Given the description of an element on the screen output the (x, y) to click on. 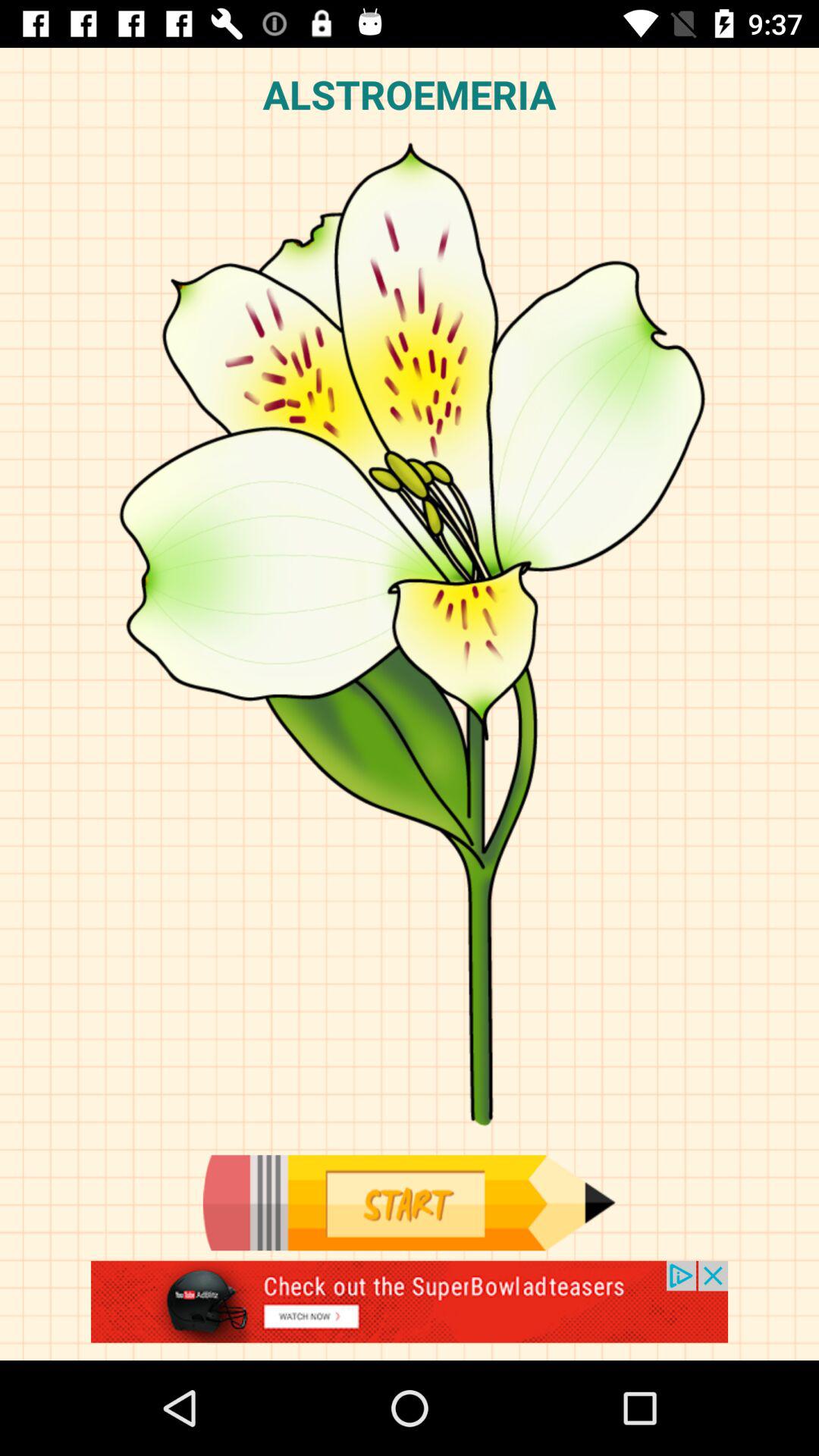
start editing picture (409, 1202)
